Given the description of an element on the screen output the (x, y) to click on. 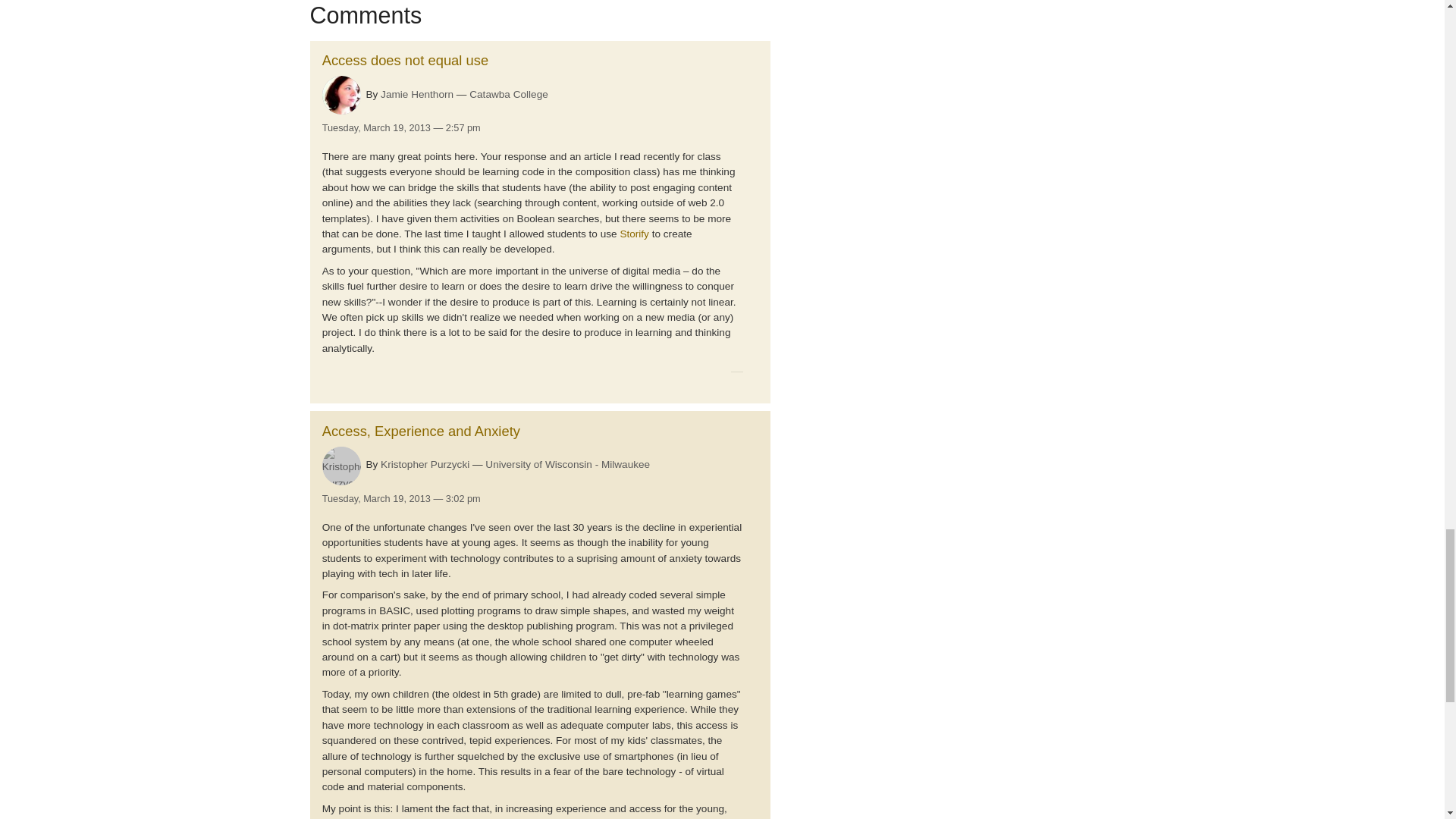
Storify (634, 233)
Jamie Henthorn (416, 93)
View user profile. (341, 95)
View user profile. (341, 465)
Kristopher Purzycki (424, 464)
User profile: Kristopher Purzycki (424, 464)
User profile: Jamie Henthorn (416, 93)
Access does not equal use (404, 59)
University of Wisconsin - Milwaukee (566, 464)
Catawba College (508, 94)
